Given the description of an element on the screen output the (x, y) to click on. 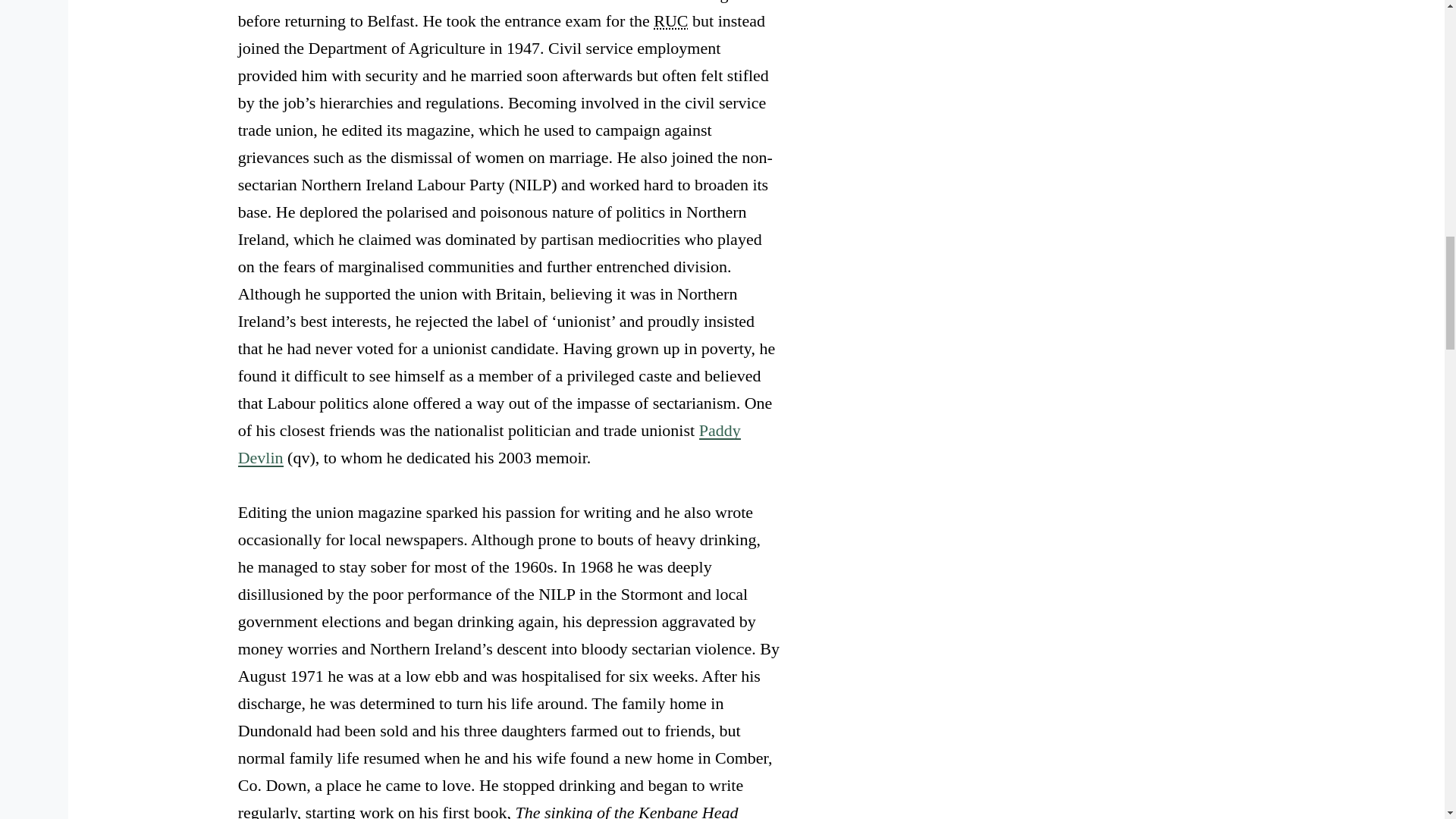
Paddy Devlin (489, 443)
